Given the description of an element on the screen output the (x, y) to click on. 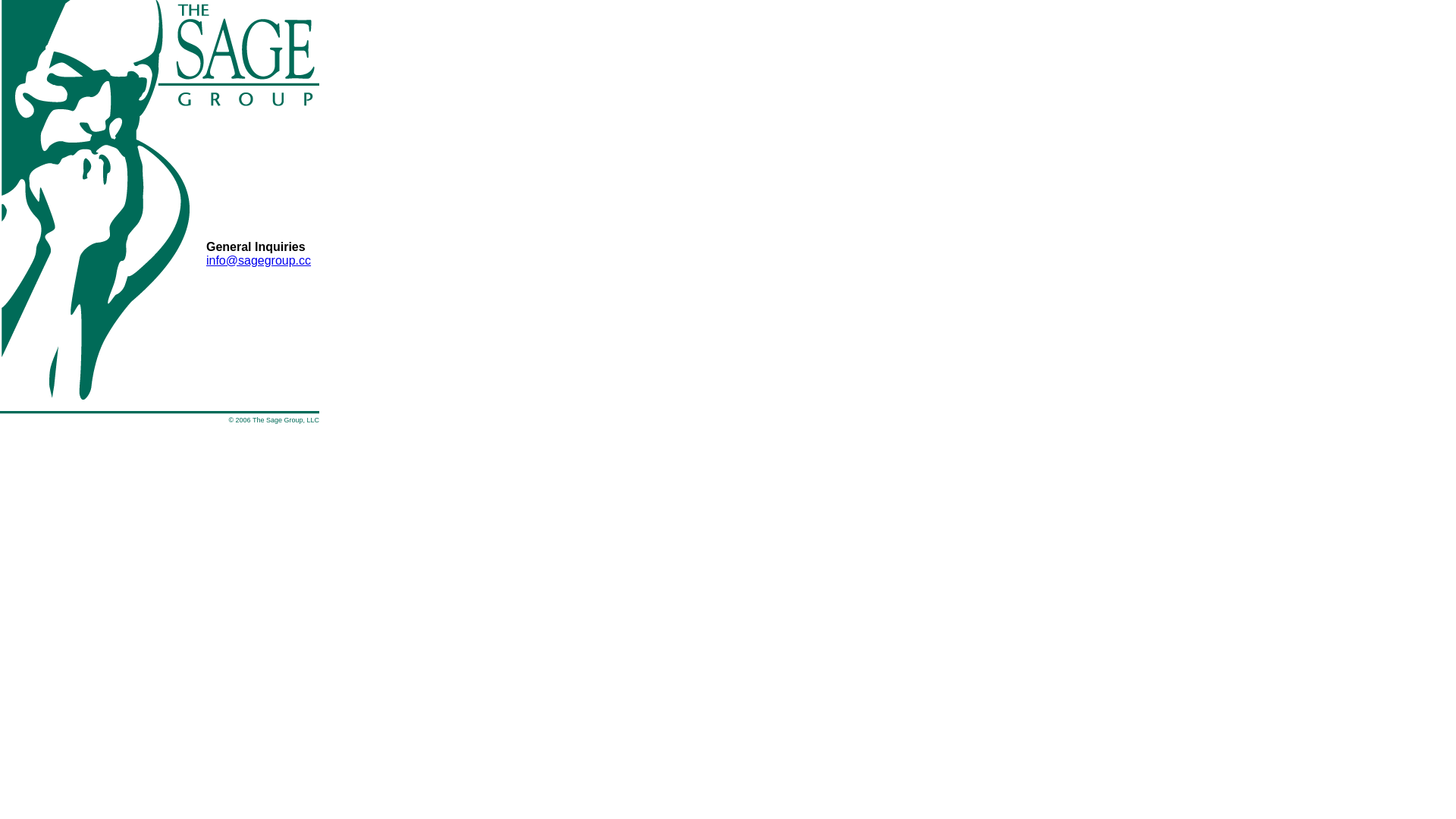
info@sagegroup.cc Element type: text (258, 259)
